Given the description of an element on the screen output the (x, y) to click on. 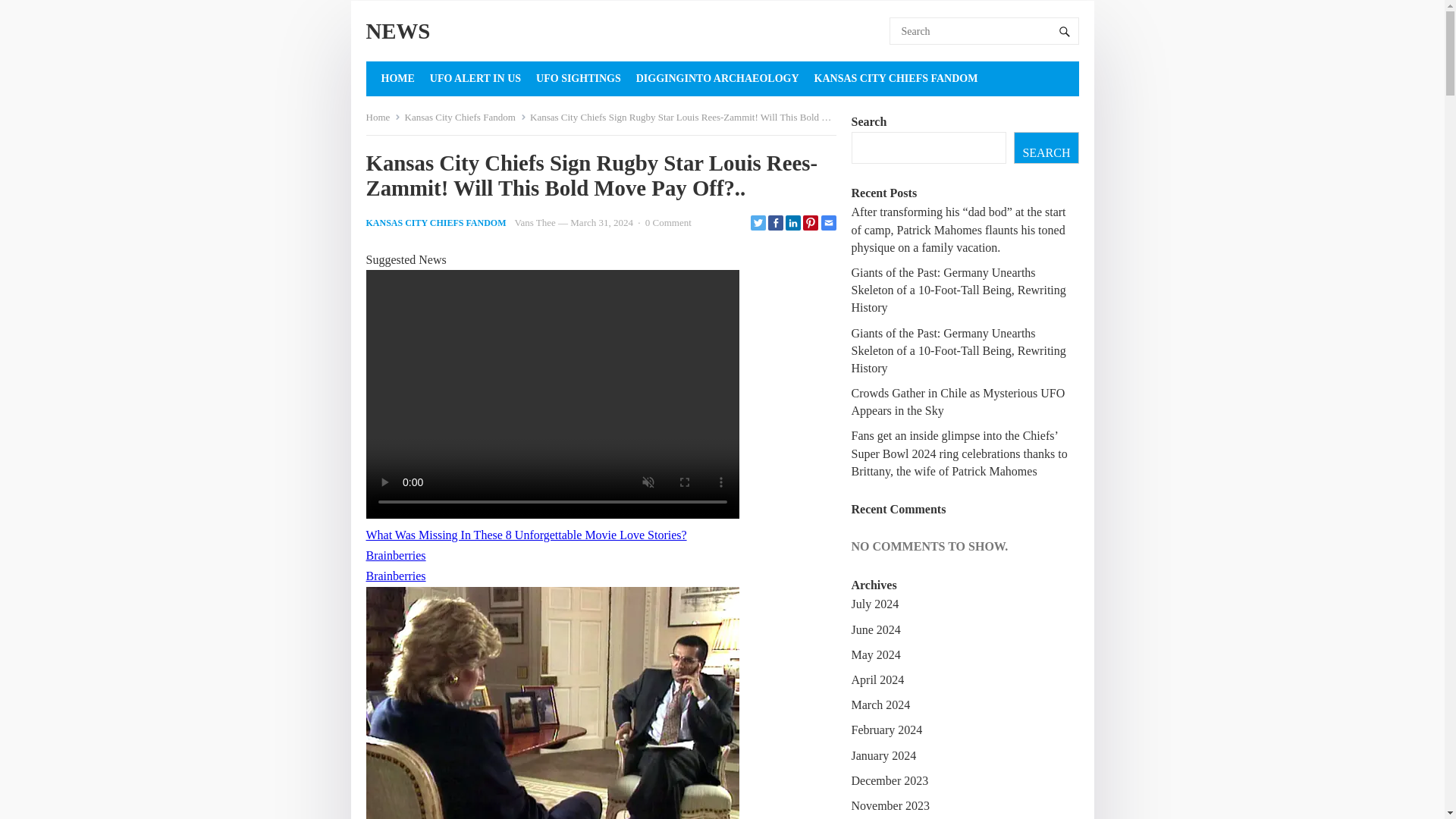
KANSAS CITY CHIEFS FANDOM (435, 222)
HOME (396, 78)
KANSAS CITY CHIEFS FANDOM (895, 78)
UFO SIGHTINGS (578, 78)
Posts by Vans Thee (535, 222)
Kansas City Chiefs Fandom (464, 116)
DIGGINGINTO ARCHAEOLOGY (717, 78)
0 Comment (668, 222)
Vans Thee (535, 222)
UFO ALERT IN US (475, 78)
